Given the description of an element on the screen output the (x, y) to click on. 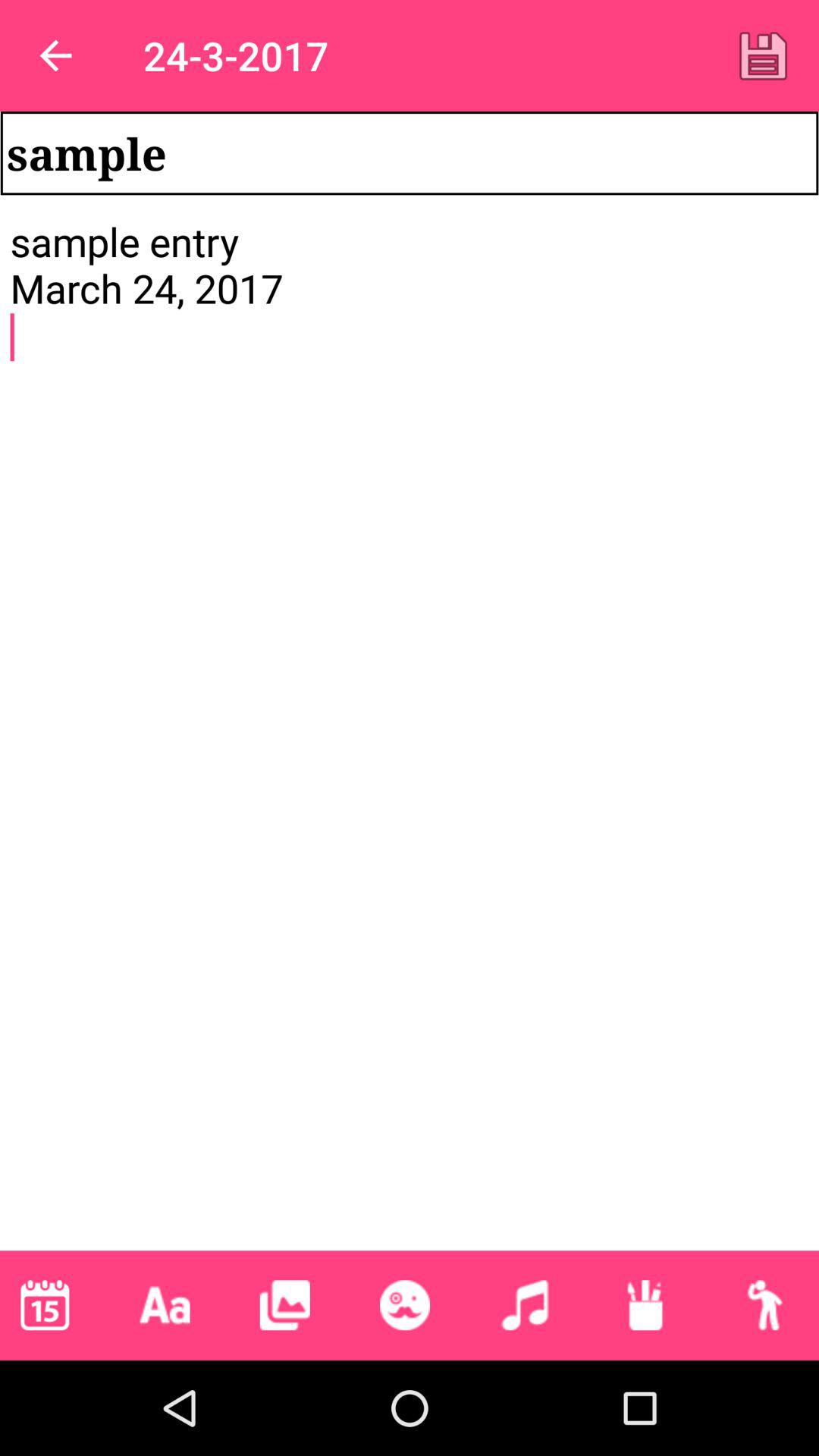
add picture (284, 1305)
